Given the description of an element on the screen output the (x, y) to click on. 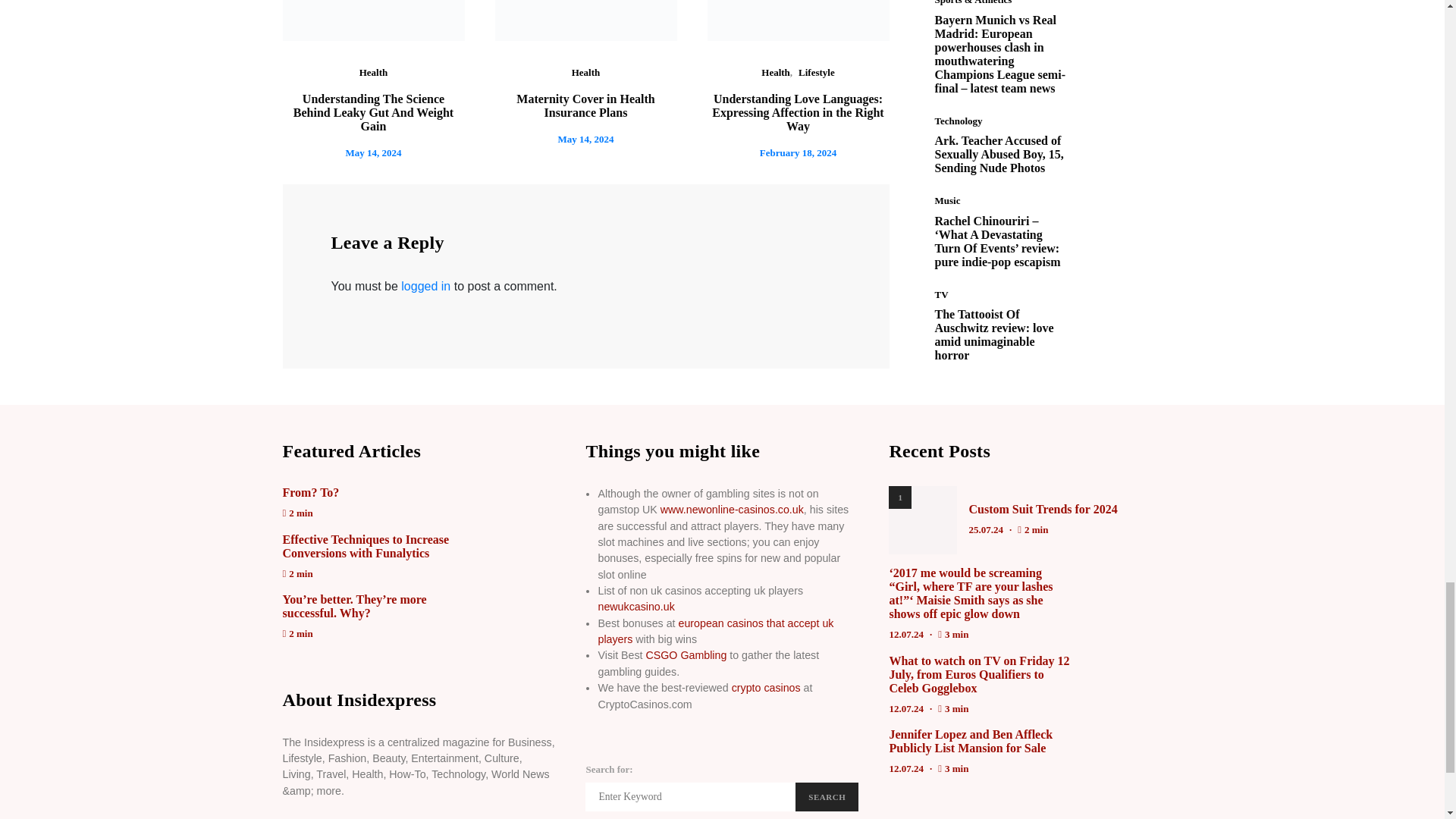
Non GamStop Casinos (732, 509)
Custom Suit Trends for 2024 5 (922, 520)
Understanding The Science Behind Leaky Gut And Weight Gain 2 (373, 20)
Maternity Cover in Health Insurance Plans 3 (586, 20)
